Given the description of an element on the screen output the (x, y) to click on. 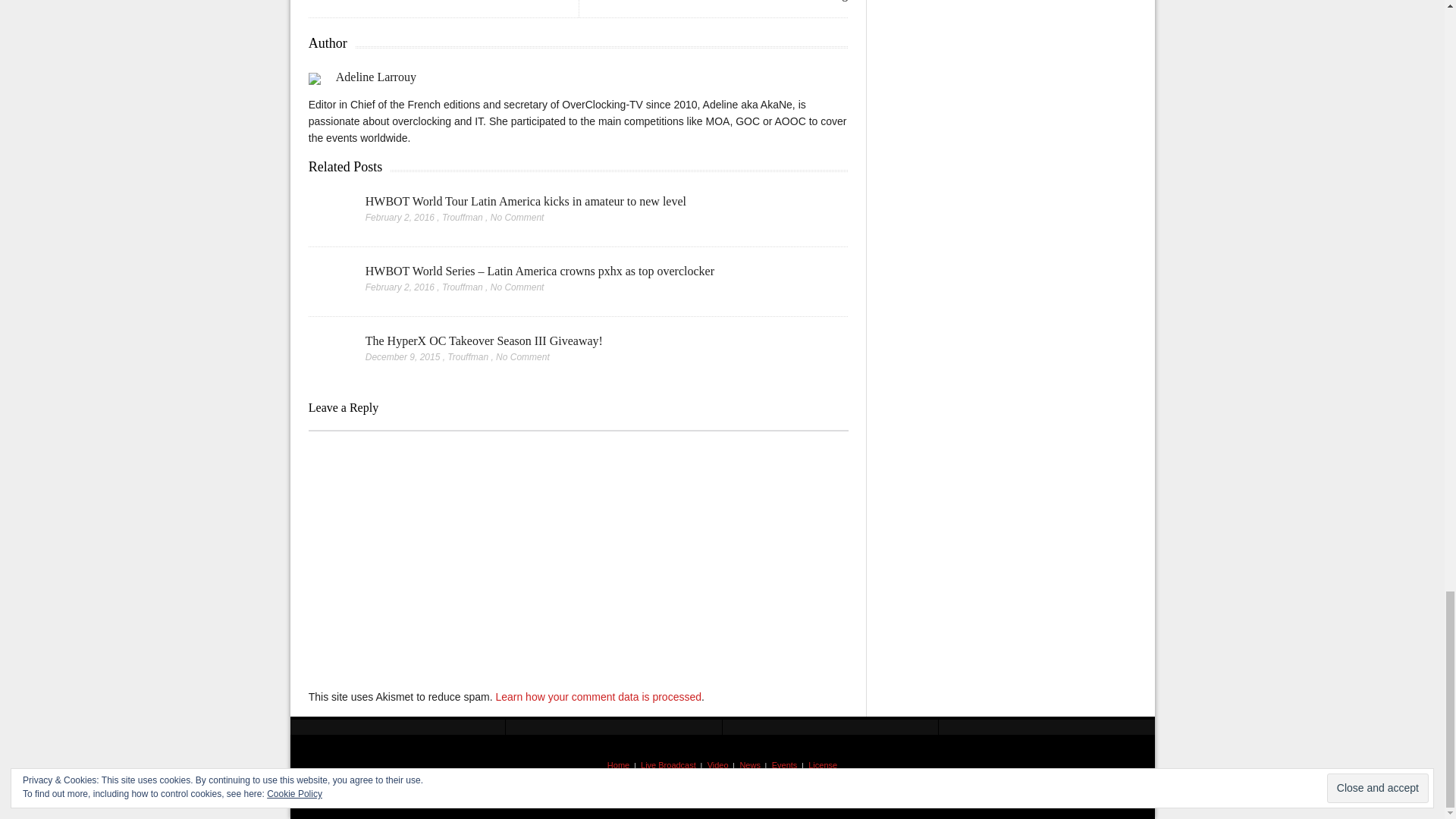
HWBOT World Tour Latin America kicks in amateur to new level (329, 200)
The HyperX OC Takeover Season III Giveaway! (483, 340)
The HyperX OC Takeover Season III Giveaway! (329, 340)
HWBOT World Tour Latin America kicks in amateur to new level (525, 201)
Adeline Larrouy (376, 76)
Posts by Trouffman (466, 357)
Posts by Adeline Larrouy (376, 76)
Comment Form (578, 549)
Posts by Trouffman (462, 286)
Posts by Trouffman (462, 217)
